Given the description of an element on the screen output the (x, y) to click on. 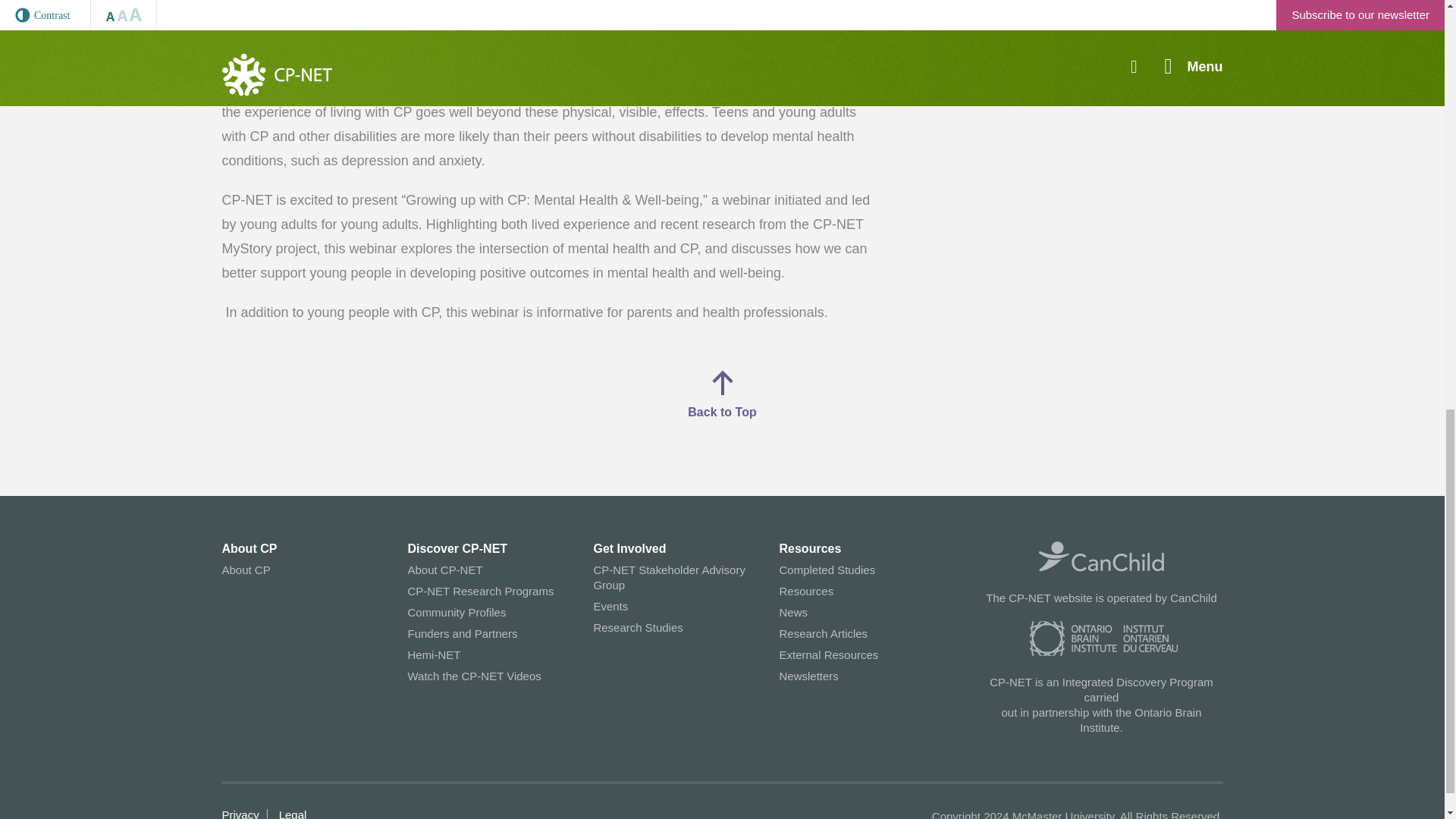
Back to Top (721, 394)
